Given the description of an element on the screen output the (x, y) to click on. 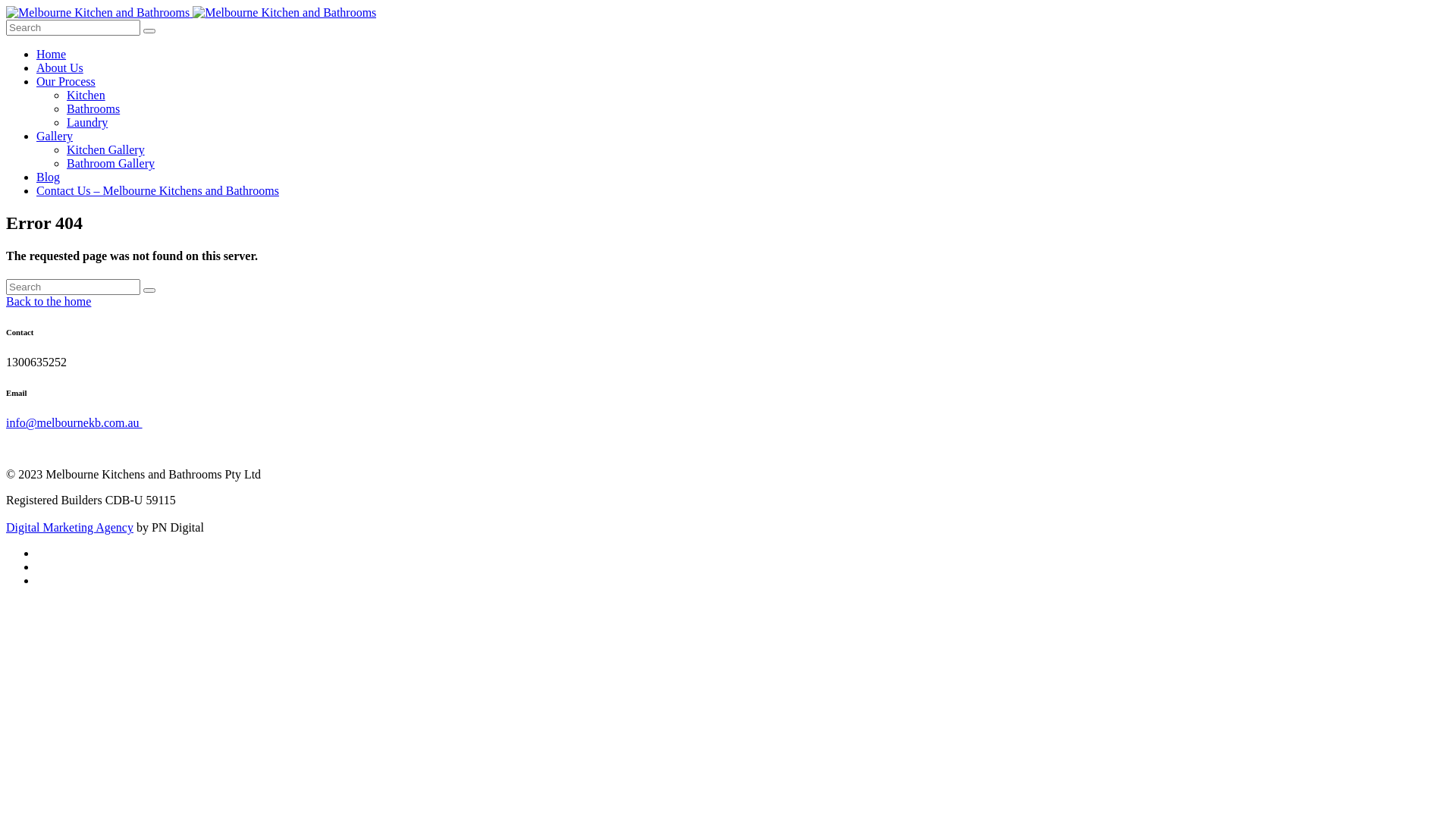
Kitchen Element type: text (85, 94)
Digital Marketing Agency Element type: text (69, 526)
About Us Element type: text (59, 67)
info@melbournekb.com.au  Element type: text (74, 422)
Our Process Element type: text (65, 81)
Laundry Element type: text (86, 122)
Blog Element type: text (47, 176)
Home Element type: text (50, 53)
Gallery Element type: text (54, 135)
Kitchen Gallery Element type: text (105, 149)
Back to the home Element type: text (48, 300)
Bathroom Gallery Element type: text (110, 162)
Bathrooms Element type: text (92, 108)
